Given the description of an element on the screen output the (x, y) to click on. 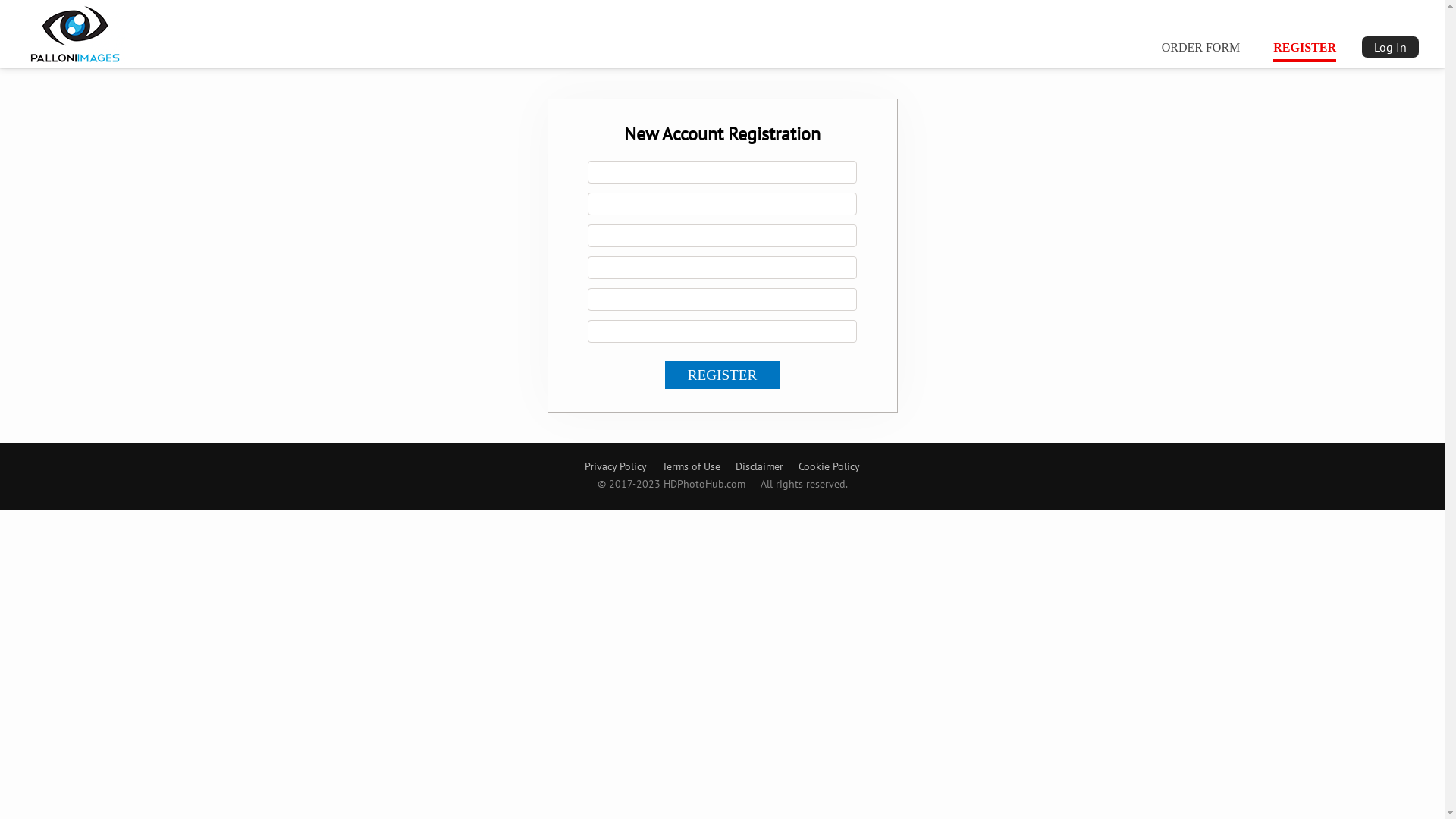
Terms of Use Element type: text (691, 465)
Disclaimer Element type: text (759, 465)
Privacy Policy Element type: text (615, 465)
ORDER FORM Element type: text (1200, 46)
Register Element type: text (722, 374)
Log In Element type: text (1389, 46)
Cookie Policy Element type: text (828, 465)
REGISTER Element type: text (1304, 46)
